Given the description of an element on the screen output the (x, y) to click on. 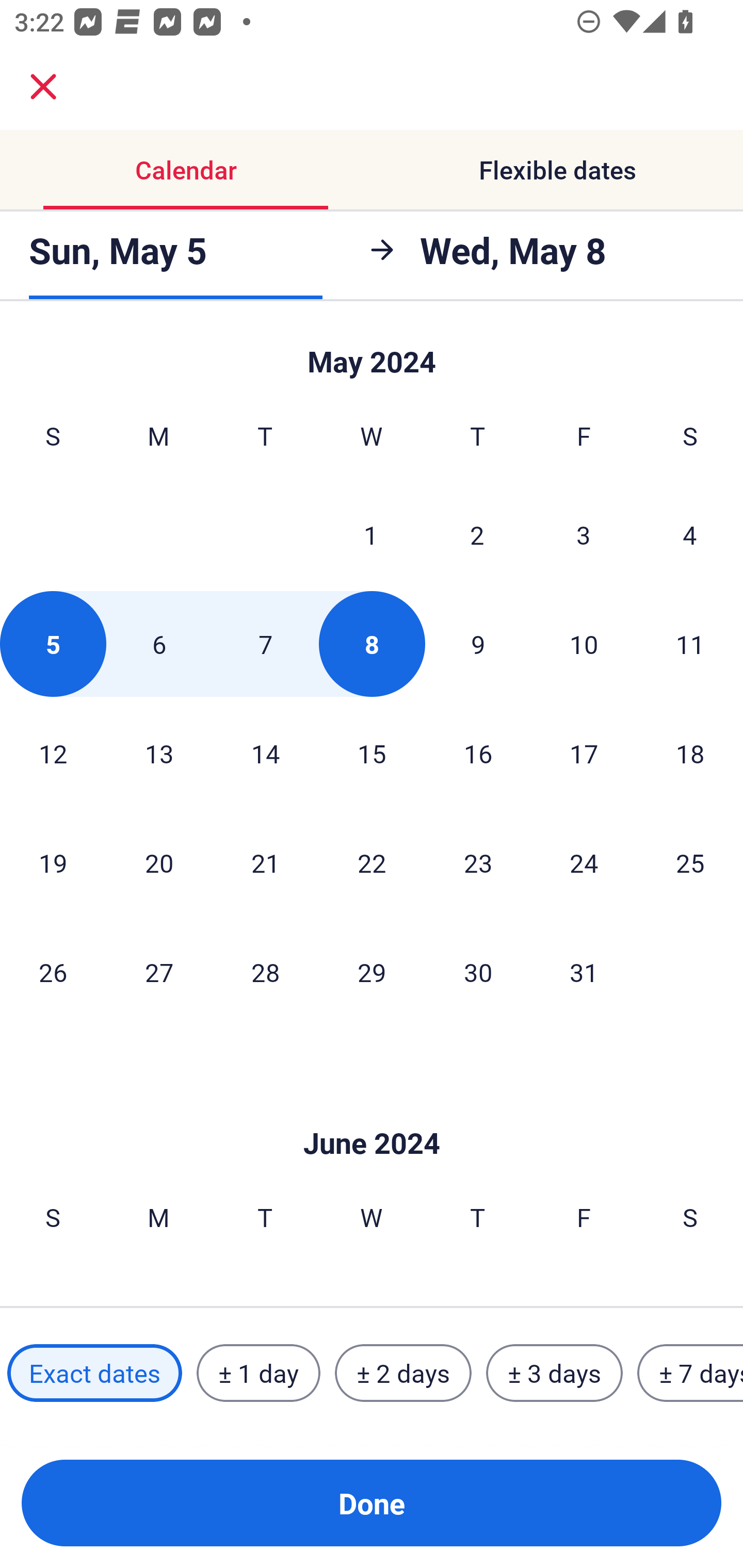
close. (43, 86)
Flexible dates (557, 170)
Skip to Done (371, 352)
1 Wednesday, May 1, 2024 (371, 534)
2 Thursday, May 2, 2024 (477, 534)
3 Friday, May 3, 2024 (583, 534)
4 Saturday, May 4, 2024 (689, 534)
9 Thursday, May 9, 2024 (477, 643)
10 Friday, May 10, 2024 (584, 643)
11 Saturday, May 11, 2024 (690, 643)
12 Sunday, May 12, 2024 (53, 752)
13 Monday, May 13, 2024 (159, 752)
14 Tuesday, May 14, 2024 (265, 752)
15 Wednesday, May 15, 2024 (371, 752)
16 Thursday, May 16, 2024 (477, 752)
17 Friday, May 17, 2024 (584, 752)
18 Saturday, May 18, 2024 (690, 752)
19 Sunday, May 19, 2024 (53, 862)
20 Monday, May 20, 2024 (159, 862)
21 Tuesday, May 21, 2024 (265, 862)
22 Wednesday, May 22, 2024 (371, 862)
23 Thursday, May 23, 2024 (477, 862)
24 Friday, May 24, 2024 (584, 862)
25 Saturday, May 25, 2024 (690, 862)
26 Sunday, May 26, 2024 (53, 971)
27 Monday, May 27, 2024 (159, 971)
28 Tuesday, May 28, 2024 (265, 971)
29 Wednesday, May 29, 2024 (371, 971)
30 Thursday, May 30, 2024 (477, 971)
31 Friday, May 31, 2024 (584, 971)
Skip to Done (371, 1112)
Exact dates (94, 1372)
± 1 day (258, 1372)
± 2 days (403, 1372)
± 3 days (553, 1372)
± 7 days (690, 1372)
Done (371, 1502)
